Given the description of an element on the screen output the (x, y) to click on. 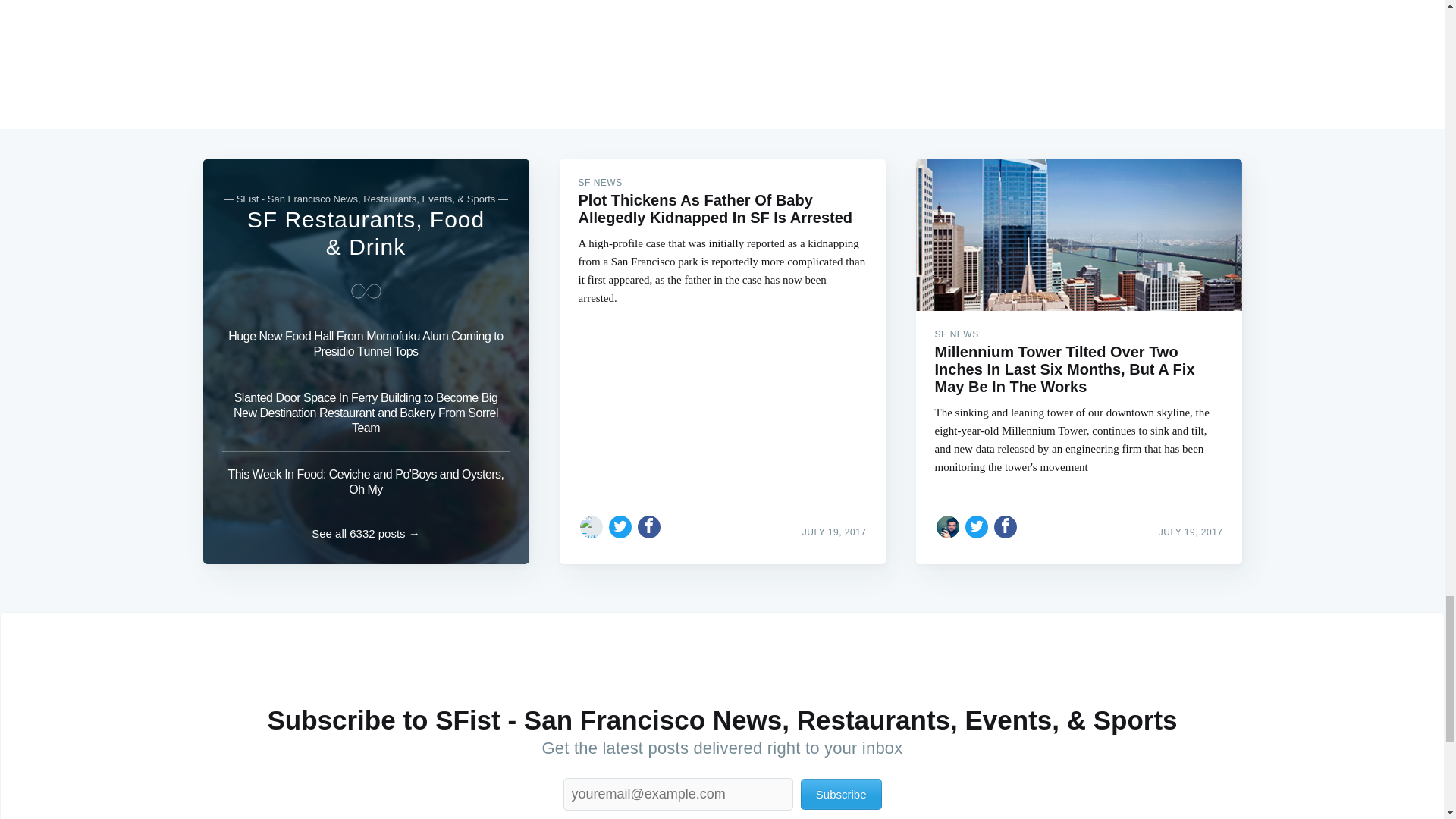
Share on Facebook (1004, 526)
Share on Twitter (976, 526)
Share on Facebook (649, 526)
This Week In Food: Ceviche and Po'Boys and Oysters, Oh My (365, 482)
Share on Twitter (620, 526)
